Given the description of an element on the screen output the (x, y) to click on. 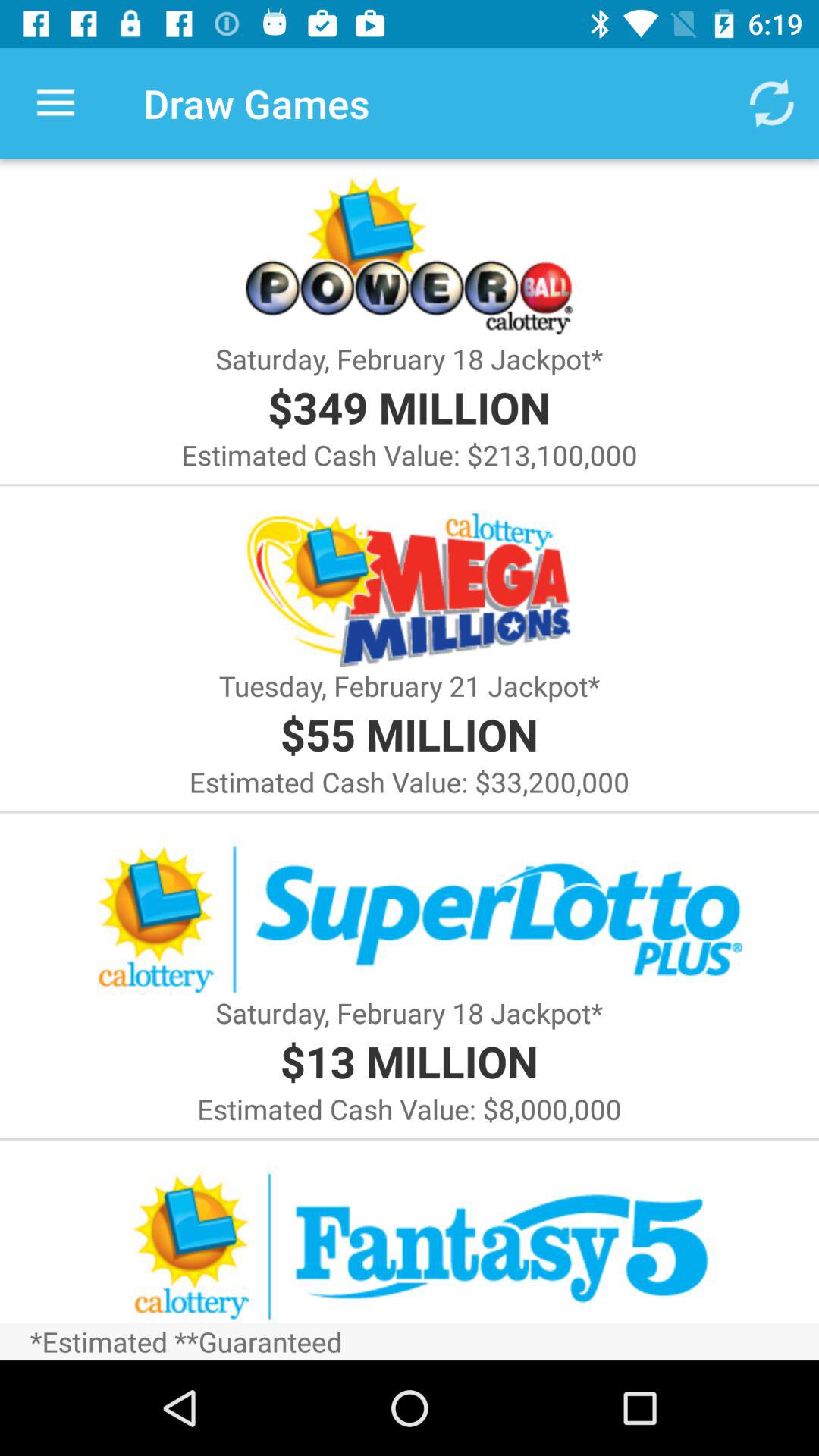
open the icon to the right of draw games (771, 103)
